Given the description of an element on the screen output the (x, y) to click on. 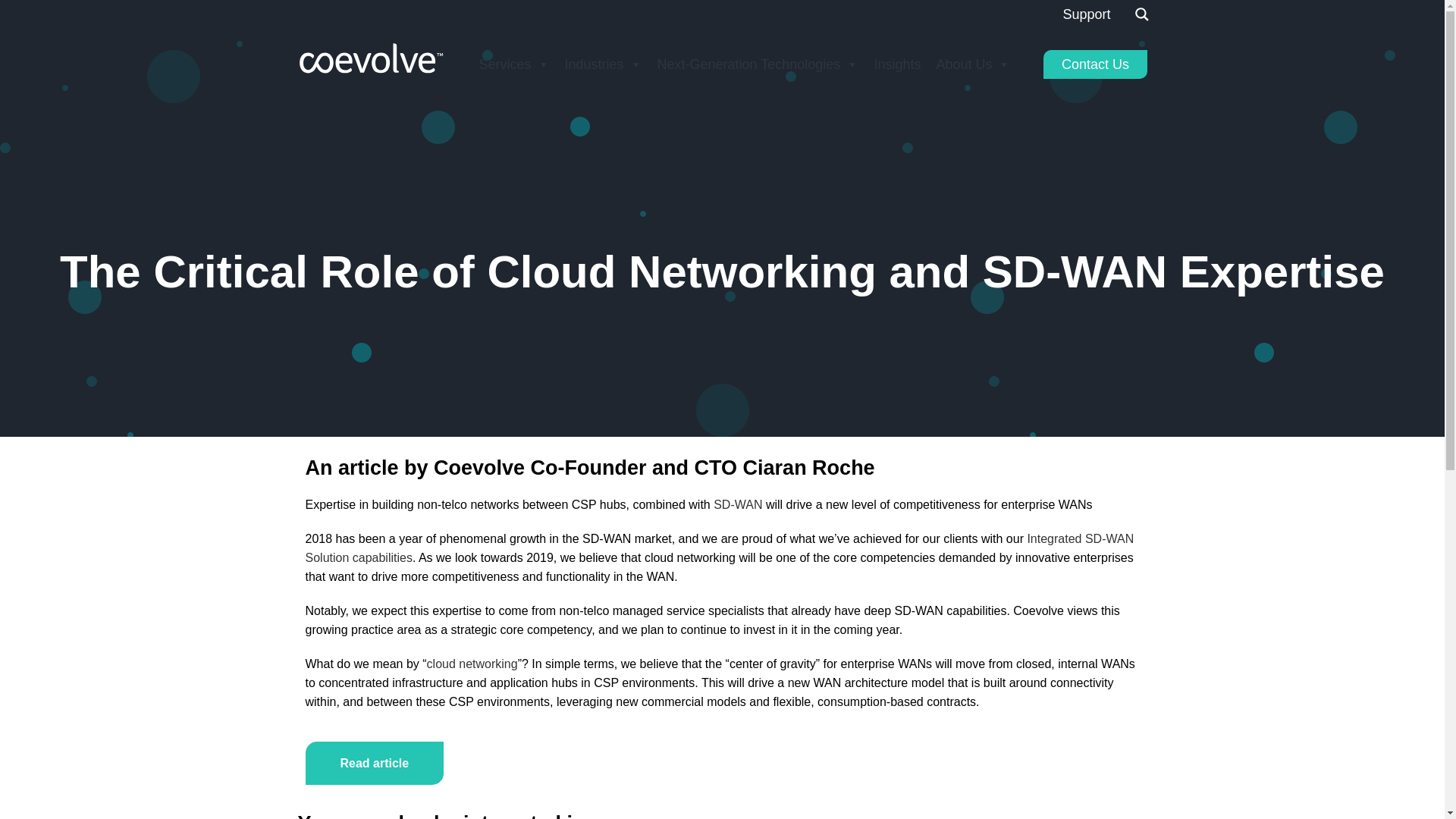
Insights (897, 64)
Support (1085, 14)
Services (513, 64)
Next-Generation Technologies (757, 64)
Industries (602, 64)
About Us (972, 64)
